Given the description of an element on the screen output the (x, y) to click on. 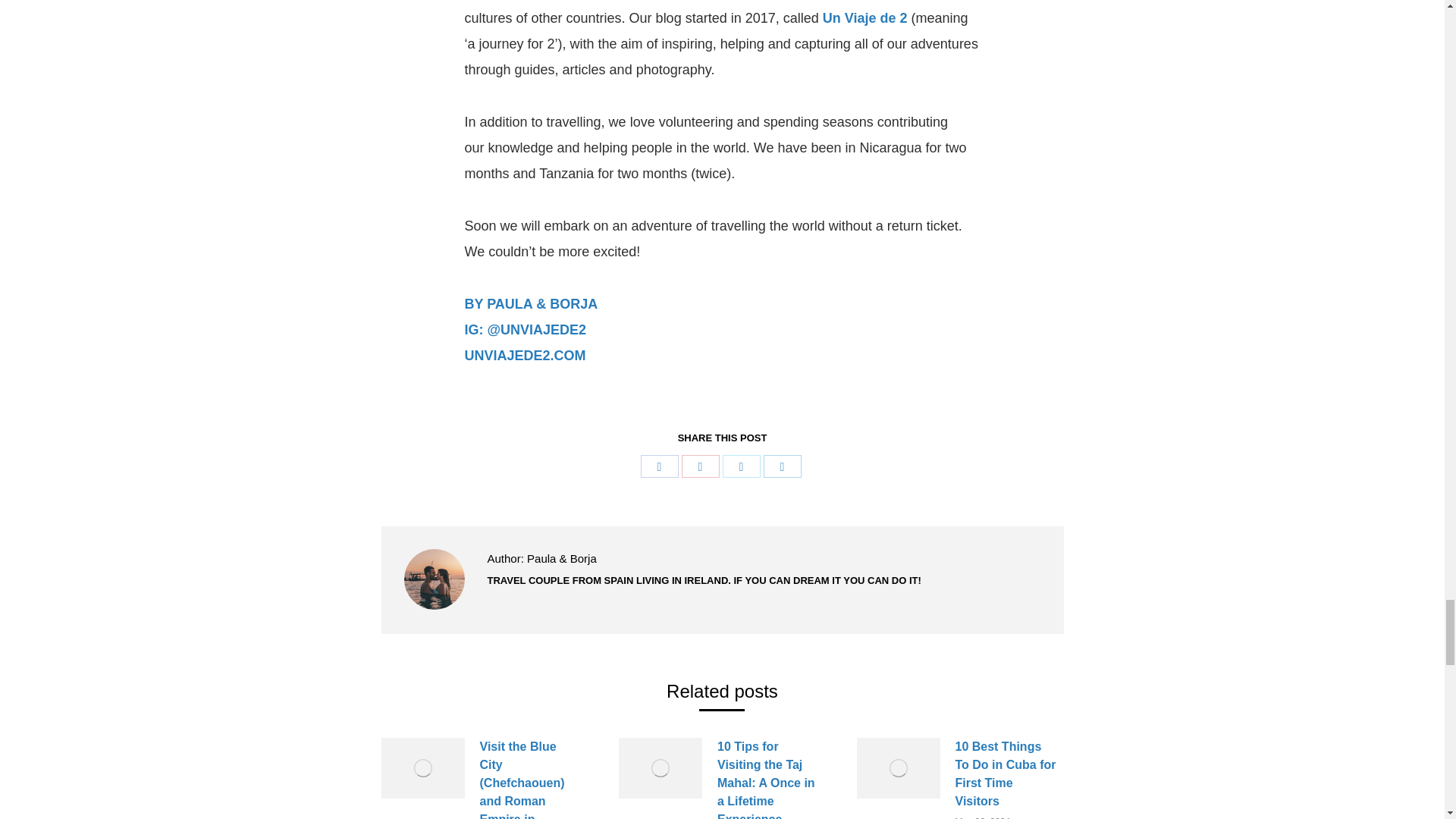
Un Viaje de 2 (864, 17)
UNVIAJEDE2.COM (524, 355)
Pinterest (700, 466)
Share on Twitter (741, 466)
Twitter (741, 466)
Share on Facebook (659, 466)
Share on Pinterest (700, 466)
LinkedIn (781, 466)
Facebook (659, 466)
